Given the description of an element on the screen output the (x, y) to click on. 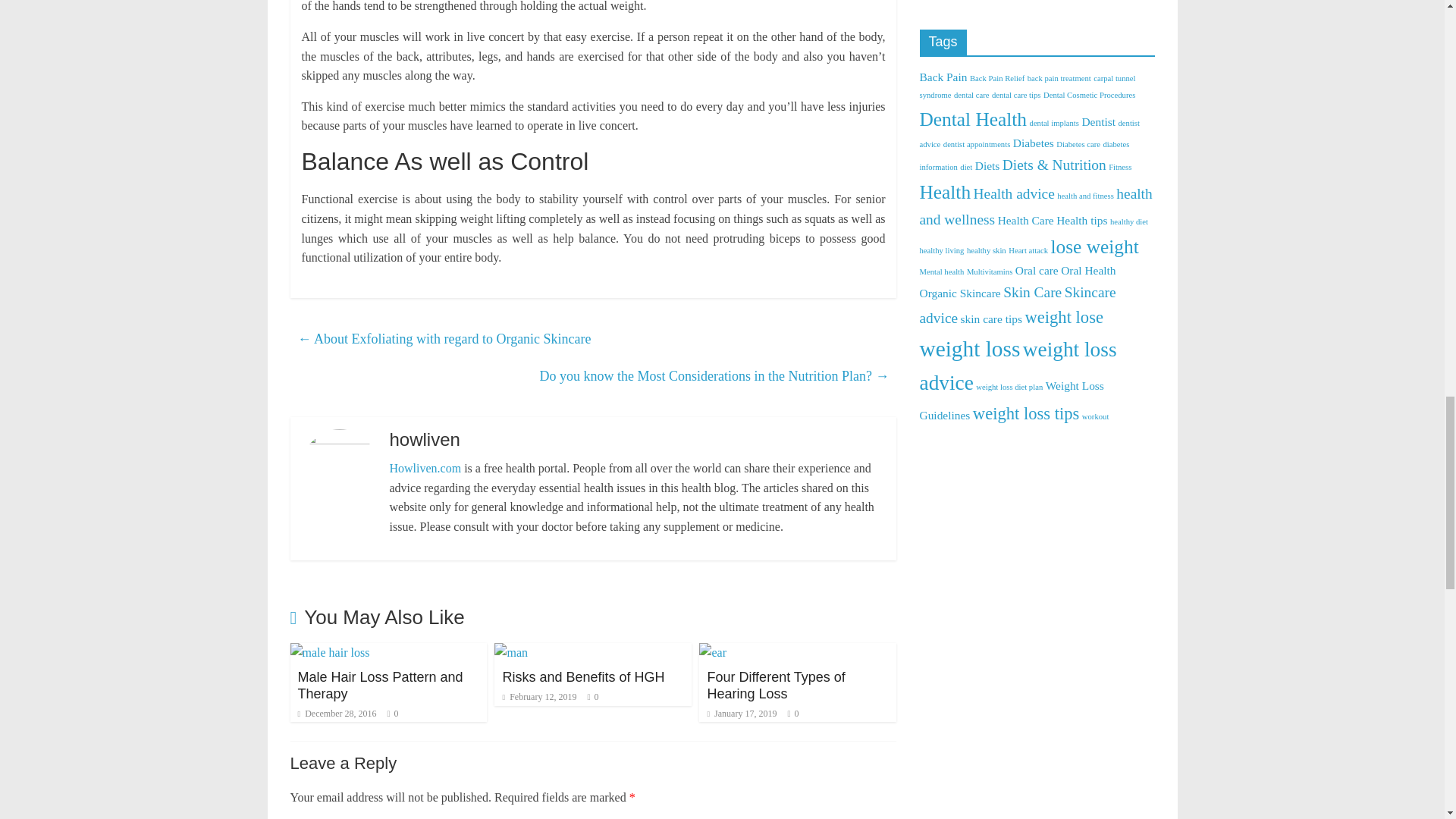
Male Hair Loss Pattern and Therapy (380, 685)
Male Hair Loss Pattern and Therapy (329, 652)
Male Hair Loss Pattern and Therapy (380, 685)
7:24 am (336, 713)
Risks and Benefits of HGH (582, 676)
Risks and Benefits of HGH (511, 652)
Howliven.com (424, 468)
December 28, 2016 (336, 713)
